Given the description of an element on the screen output the (x, y) to click on. 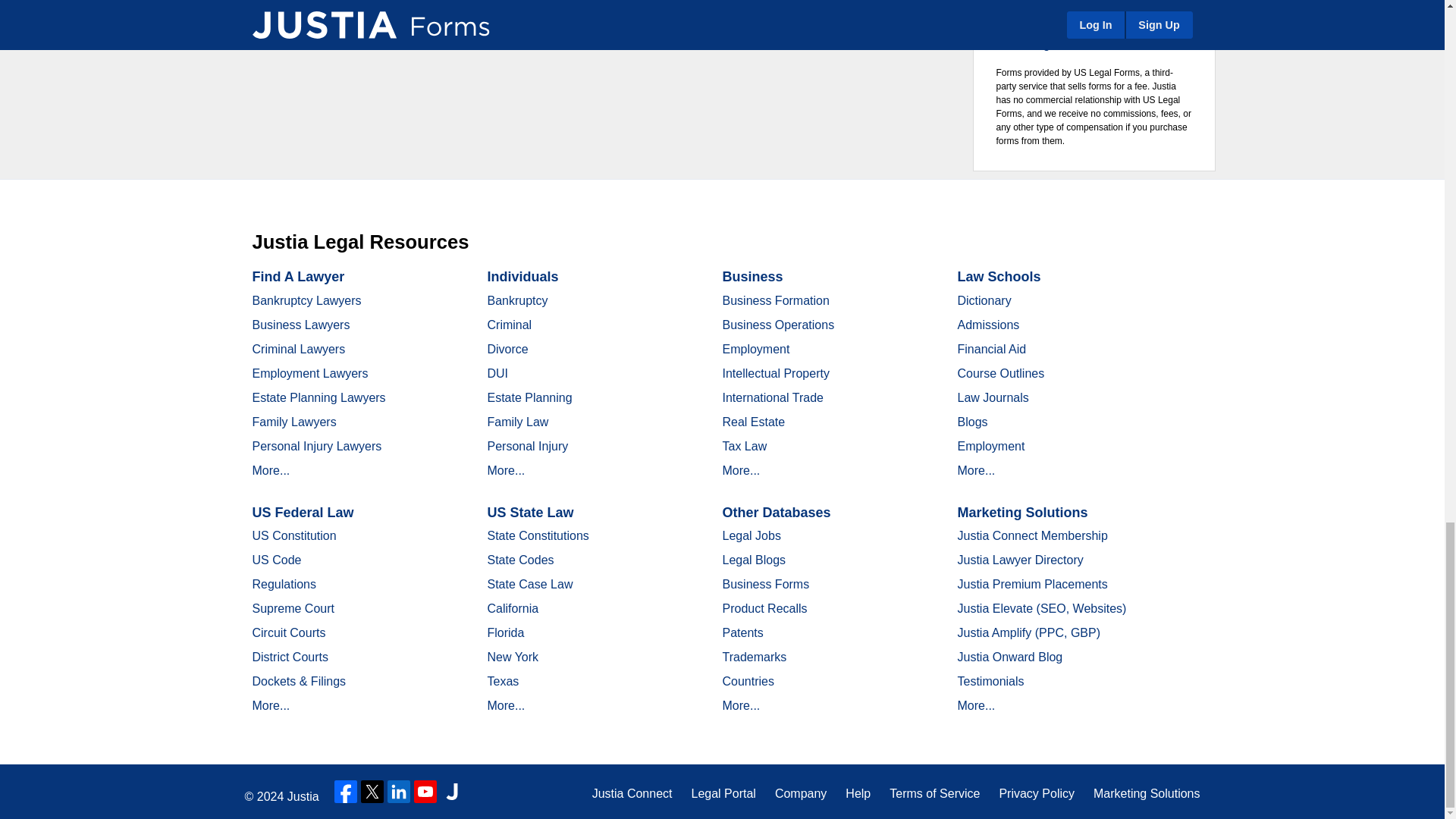
YouTube (424, 791)
Justia Lawyer Directory (452, 791)
Twitter (372, 791)
LinkedIn (398, 791)
Facebook (345, 791)
